Given the description of an element on the screen output the (x, y) to click on. 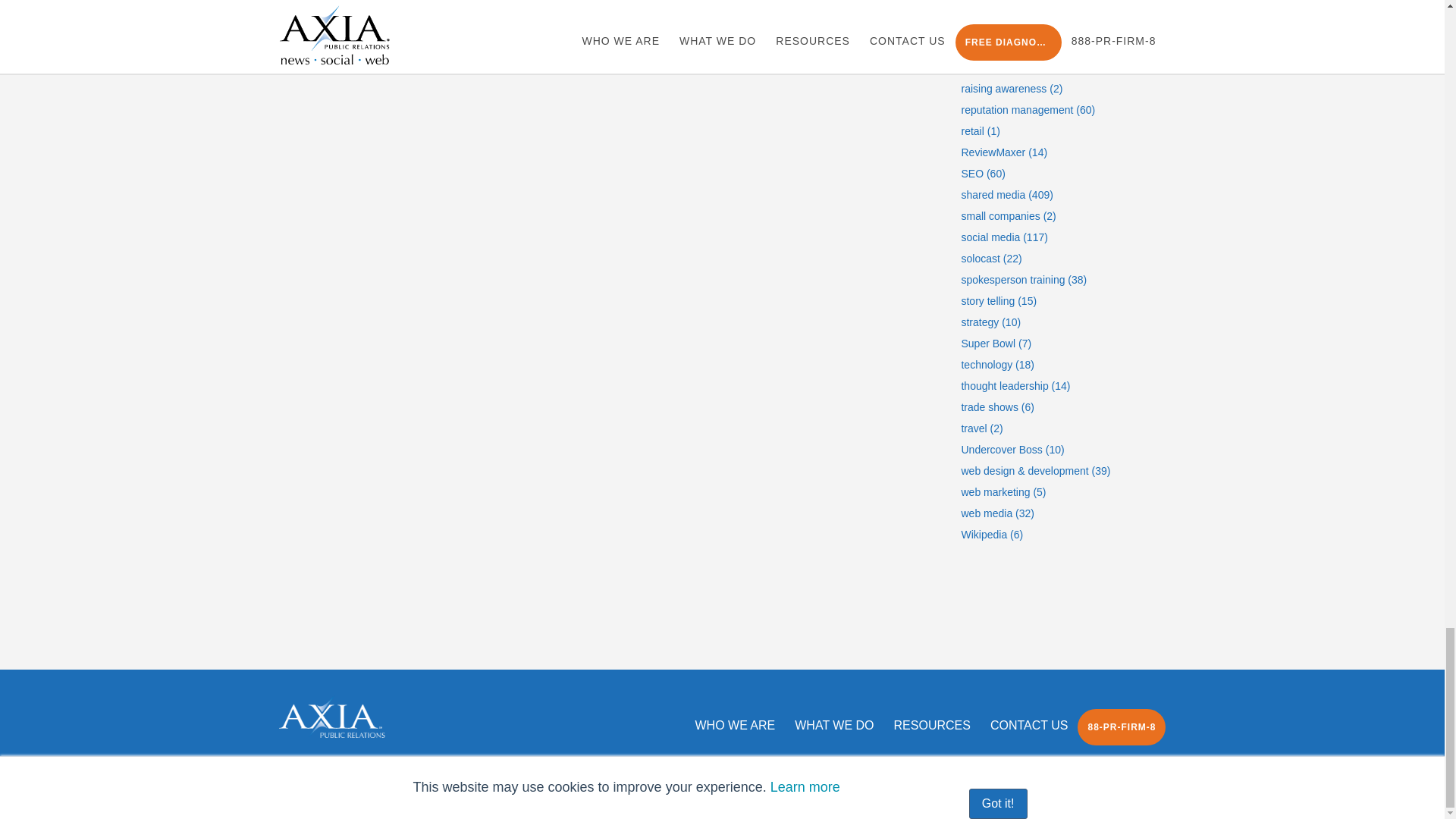
axia-subpage-topnav-logo.png (332, 717)
